Given the description of an element on the screen output the (x, y) to click on. 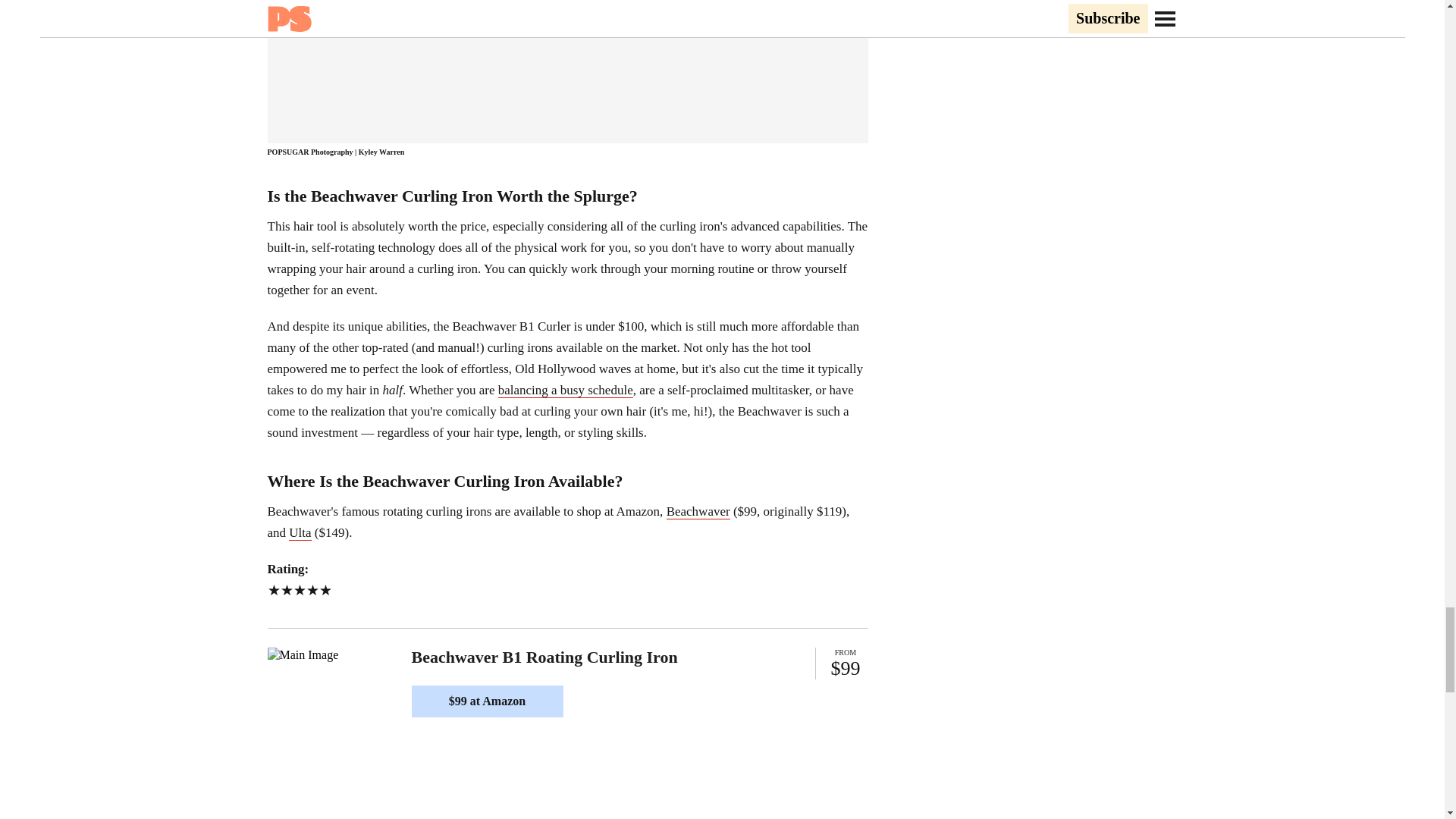
Beachwaver (698, 511)
Ulta (299, 532)
balancing a busy schedule (565, 390)
